Given the description of an element on the screen output the (x, y) to click on. 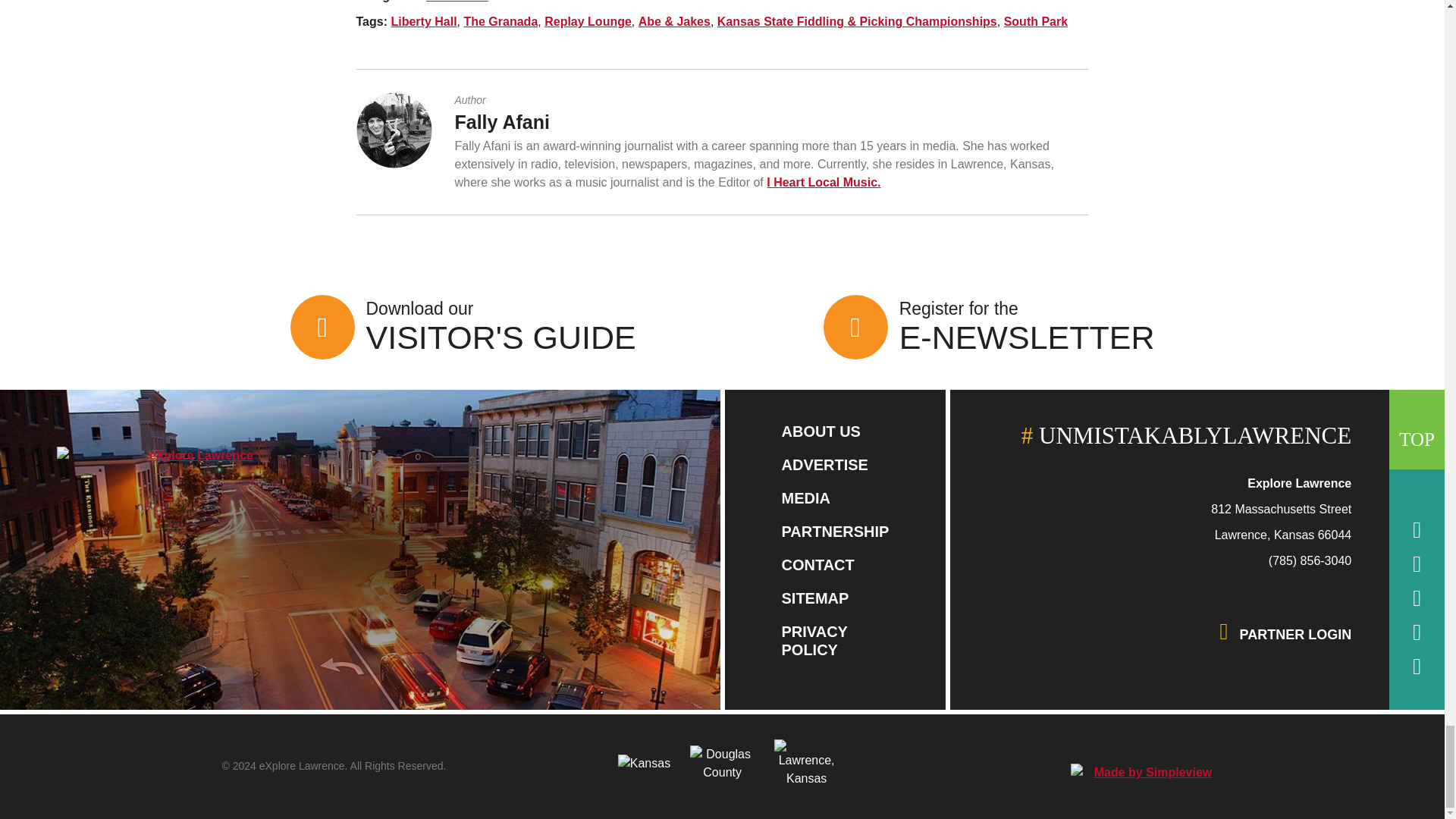
About Us (820, 431)
Privacy Policy (813, 640)
Contact (816, 564)
Advertise (823, 464)
Sitemap (814, 597)
Media (804, 497)
Partnership (834, 531)
